Given the description of an element on the screen output the (x, y) to click on. 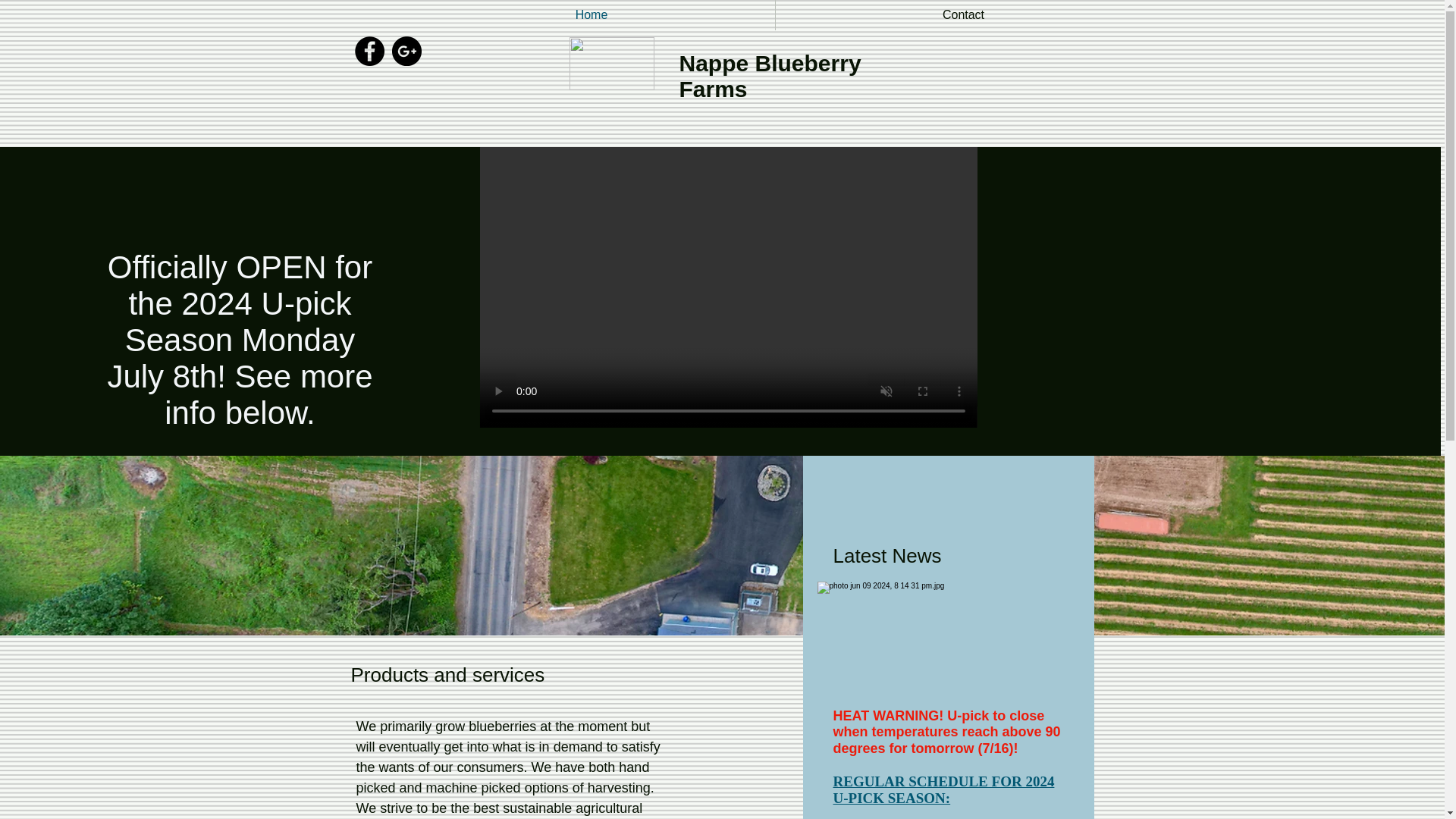
Nappe Blueberry Farms (770, 75)
Contact (962, 15)
Home (590, 15)
